Given the description of an element on the screen output the (x, y) to click on. 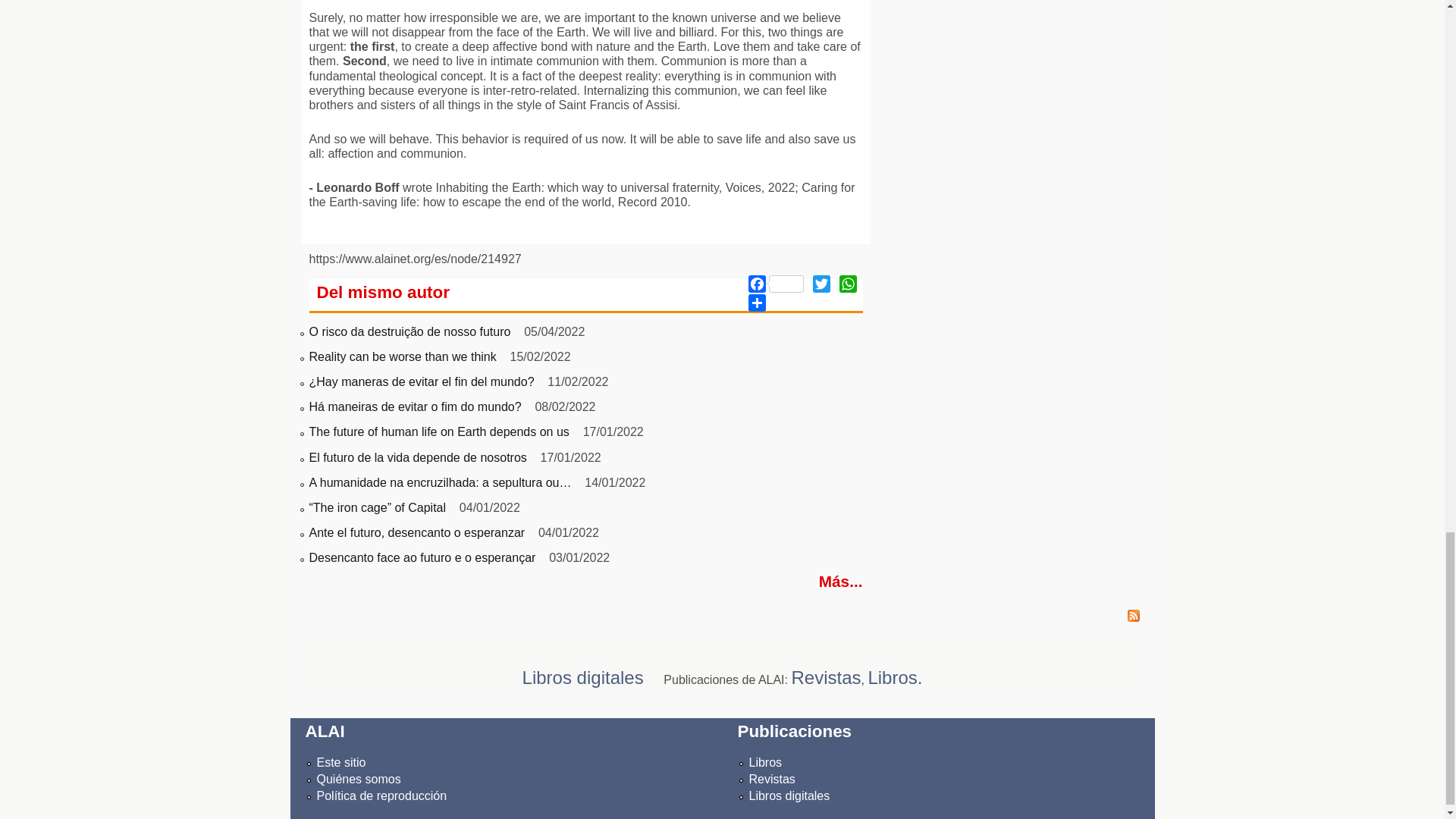
Quienes somos (359, 779)
WhatsApp (847, 282)
Reality can be worse than we think (402, 356)
Facebook (775, 282)
Ante el futuro, desencanto o esperanzar (416, 532)
The future of human life on Earth depends on us (438, 431)
Libros de ALAI (766, 762)
Revistas (771, 779)
Twitter (820, 282)
Suscribirse a America Latina en Movimiento - RSS (721, 616)
El futuro de la vida depende de nosotros (417, 457)
